Given the description of an element on the screen output the (x, y) to click on. 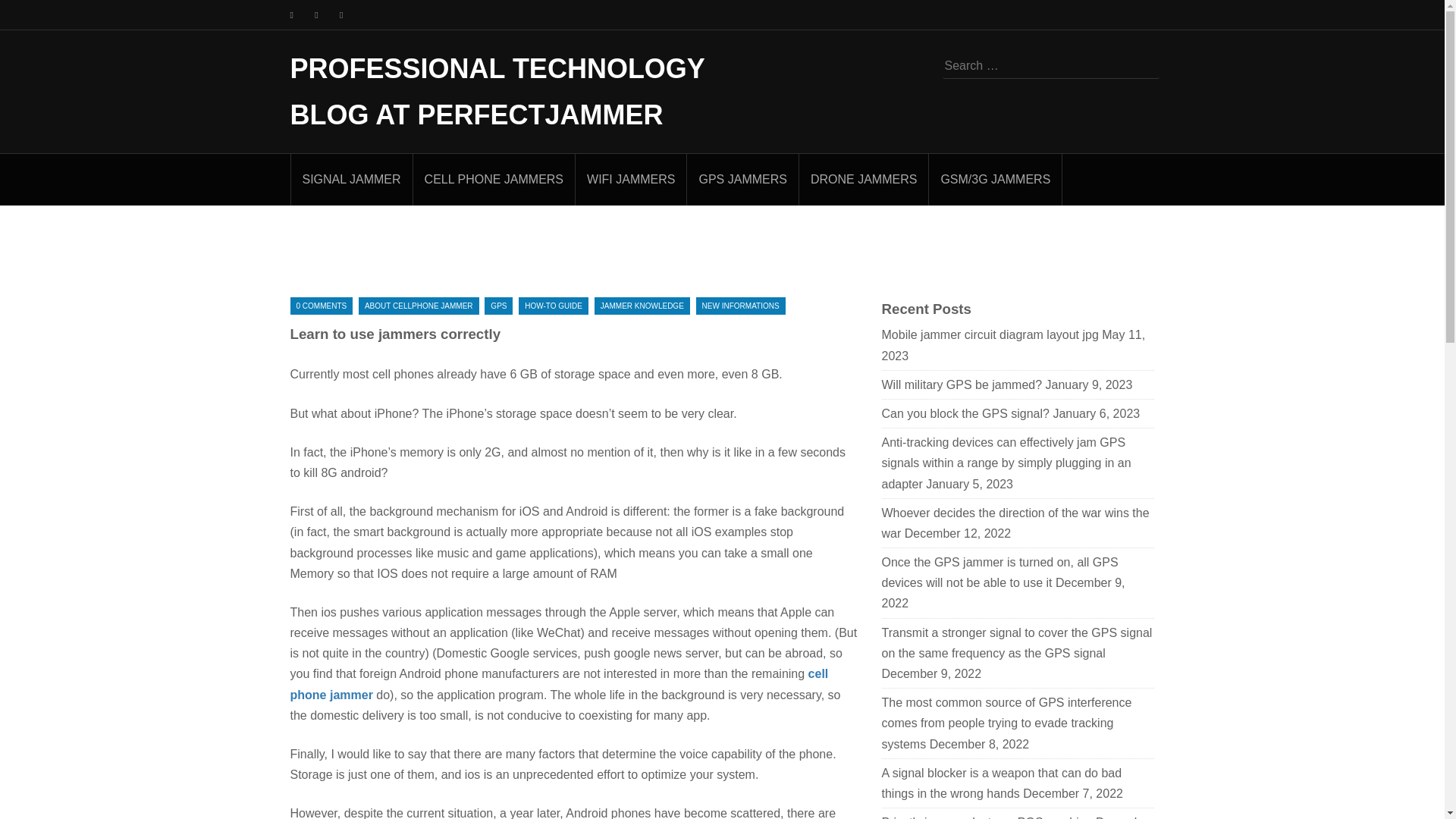
DRONE JAMMERS (863, 178)
cell phone jammer (558, 684)
WIFI JAMMERS (630, 178)
NEW INFORMATIONS (740, 305)
ABOUT CELLPHONE JAMMER (418, 305)
Will military GPS be jammed? (961, 384)
Search (32, 12)
HOW-TO GUIDE (553, 305)
JAMMER KNOWLEDGE (642, 305)
Mobile jammer circuit diagram layout jpg (988, 334)
Professional Technology Blog At Perfectjammer (496, 91)
Whoever decides the direction of the war wins the war (1014, 522)
